Given the description of an element on the screen output the (x, y) to click on. 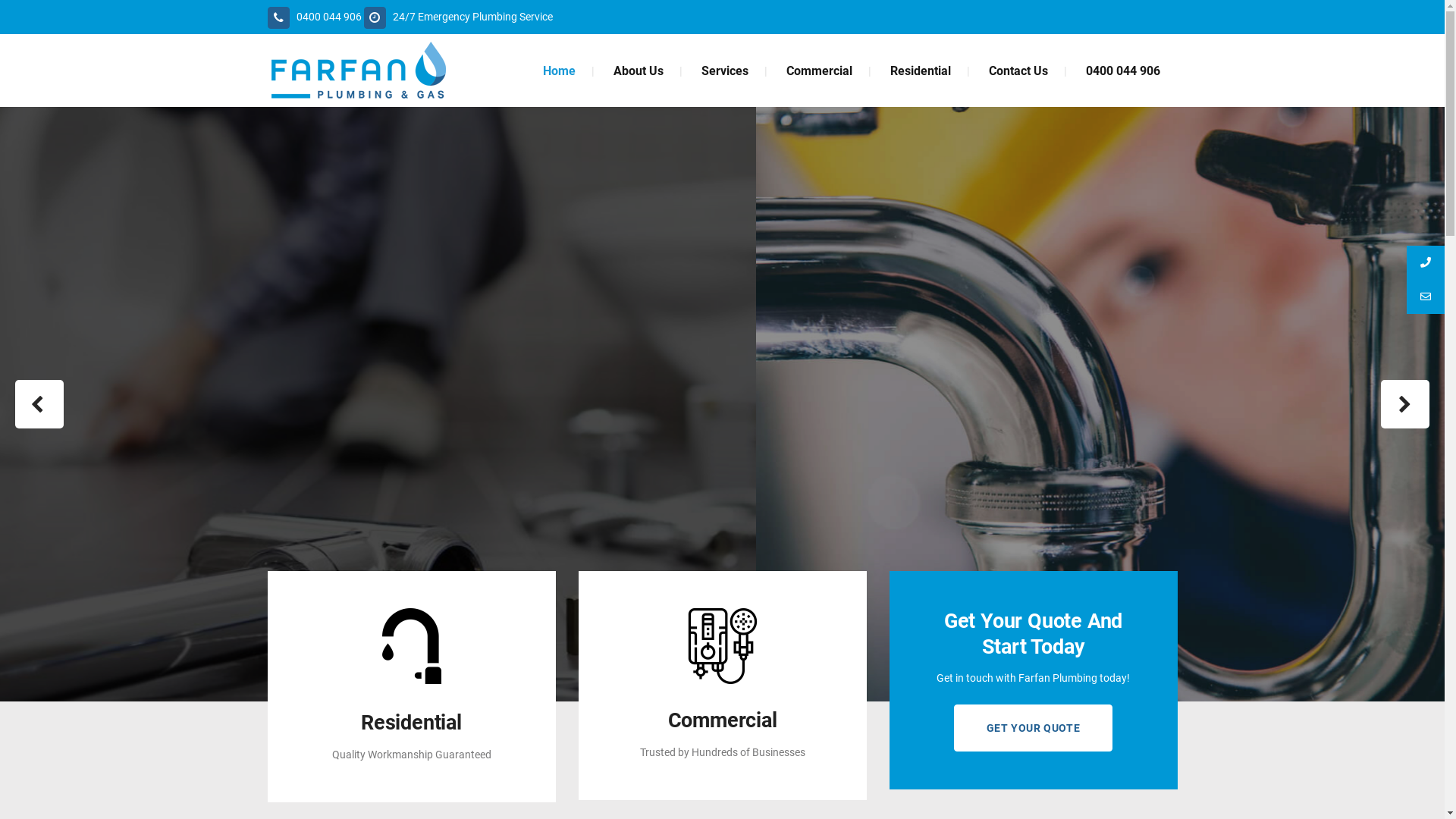
GET YOUR QUOTE Element type: text (1032, 727)
Commercial Element type: text (818, 70)
Home Element type: text (558, 70)
0400 044 906 Element type: text (313, 16)
READ MORE Element type: text (331, 456)
About Us Element type: text (638, 70)
Residential Element type: text (919, 70)
Contact Us Element type: text (1017, 70)
watertap Element type: hover (410, 646)
water-heater Element type: hover (721, 646)
Services Element type: text (724, 70)
0400 044 906 Element type: text (1121, 70)
